Given the description of an element on the screen output the (x, y) to click on. 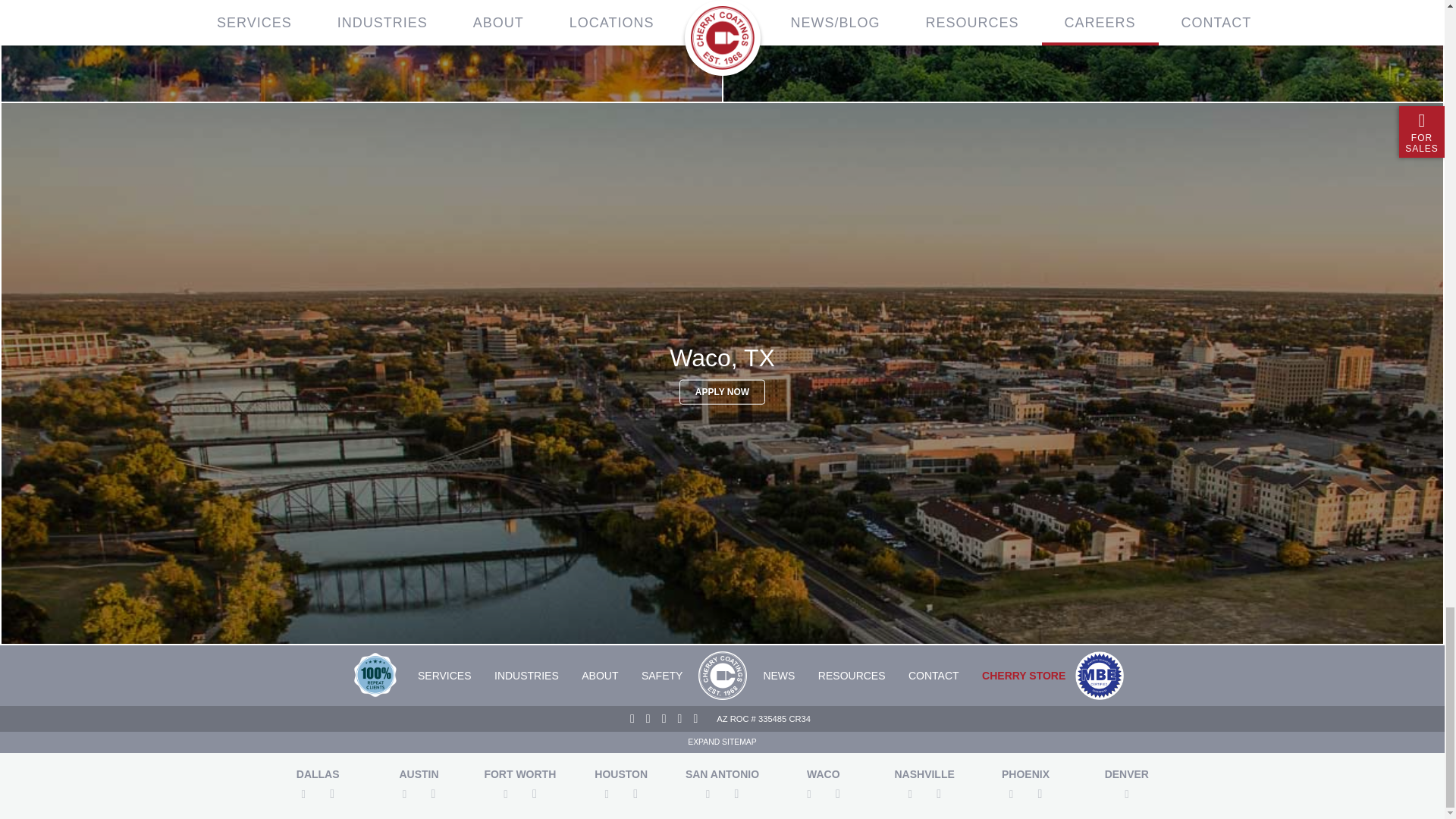
ABOUT (599, 675)
Phoenix, AZ (361, 51)
SERVICES (444, 675)
San Antonio, TX (1083, 51)
INDUSTRIES (525, 675)
